Given the description of an element on the screen output the (x, y) to click on. 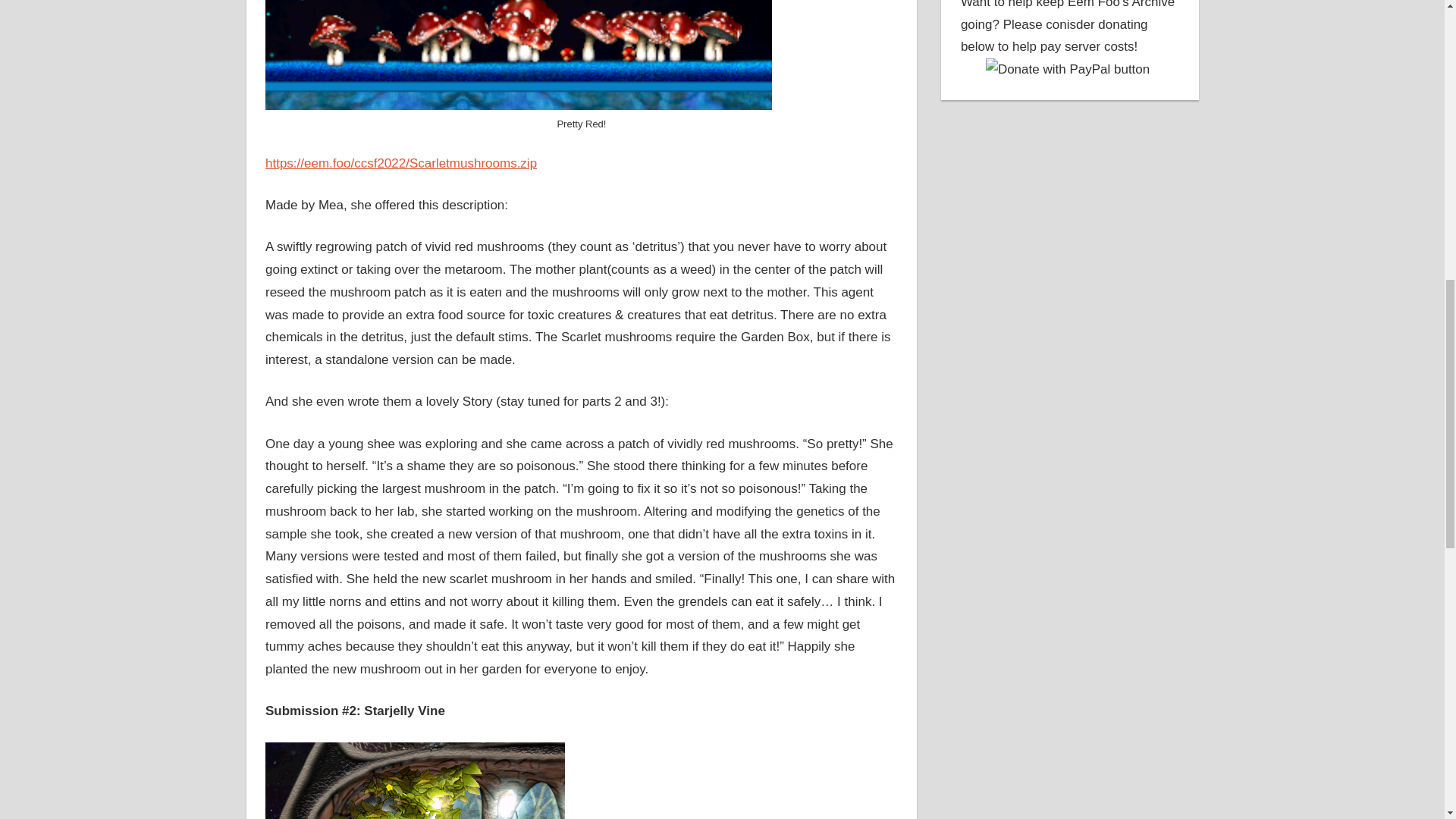
PayPal - The safer, easier way to pay online! (1067, 69)
